Given the description of an element on the screen output the (x, y) to click on. 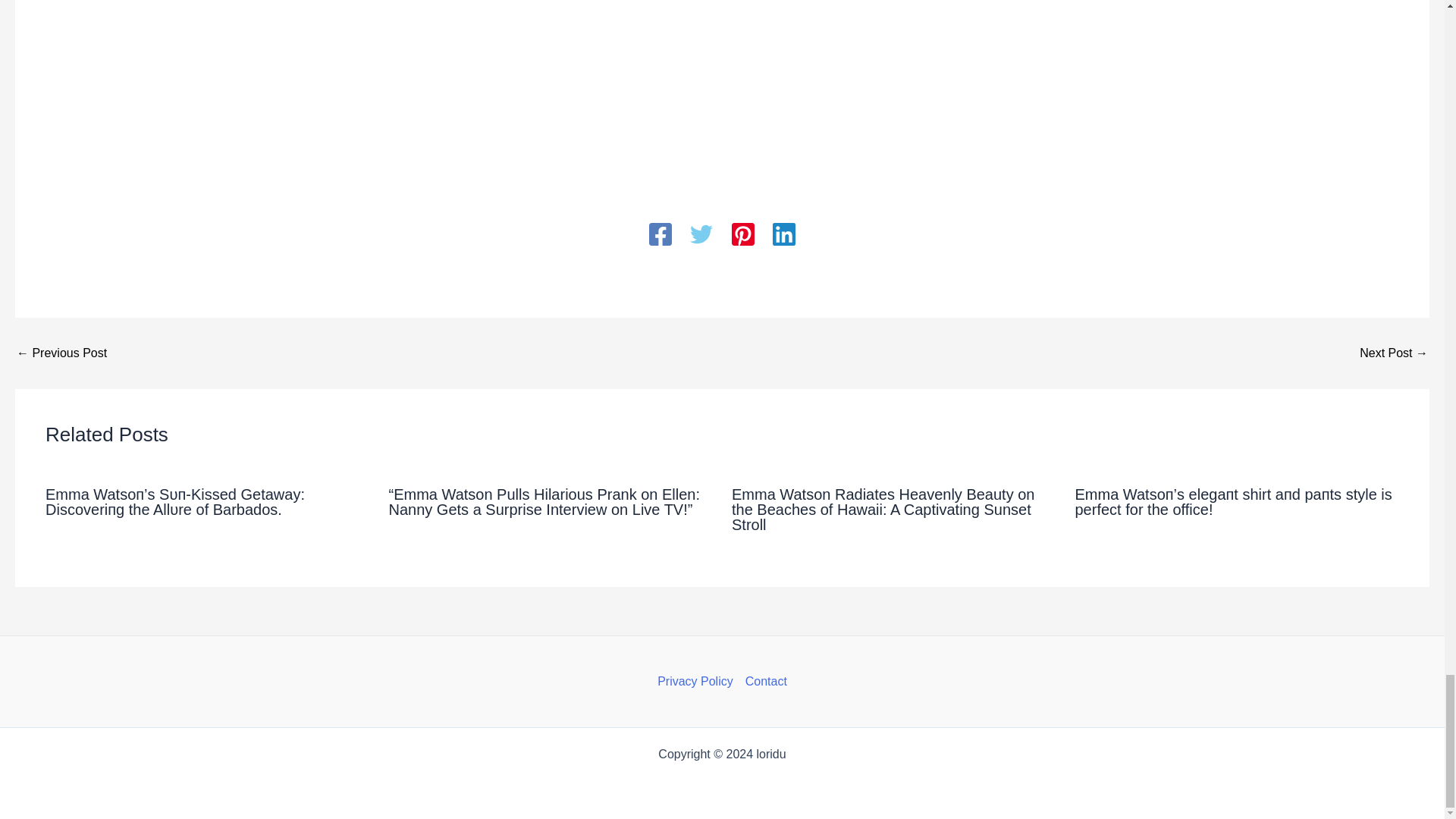
Privacy Policy (698, 681)
Contact (763, 681)
